Given the description of an element on the screen output the (x, y) to click on. 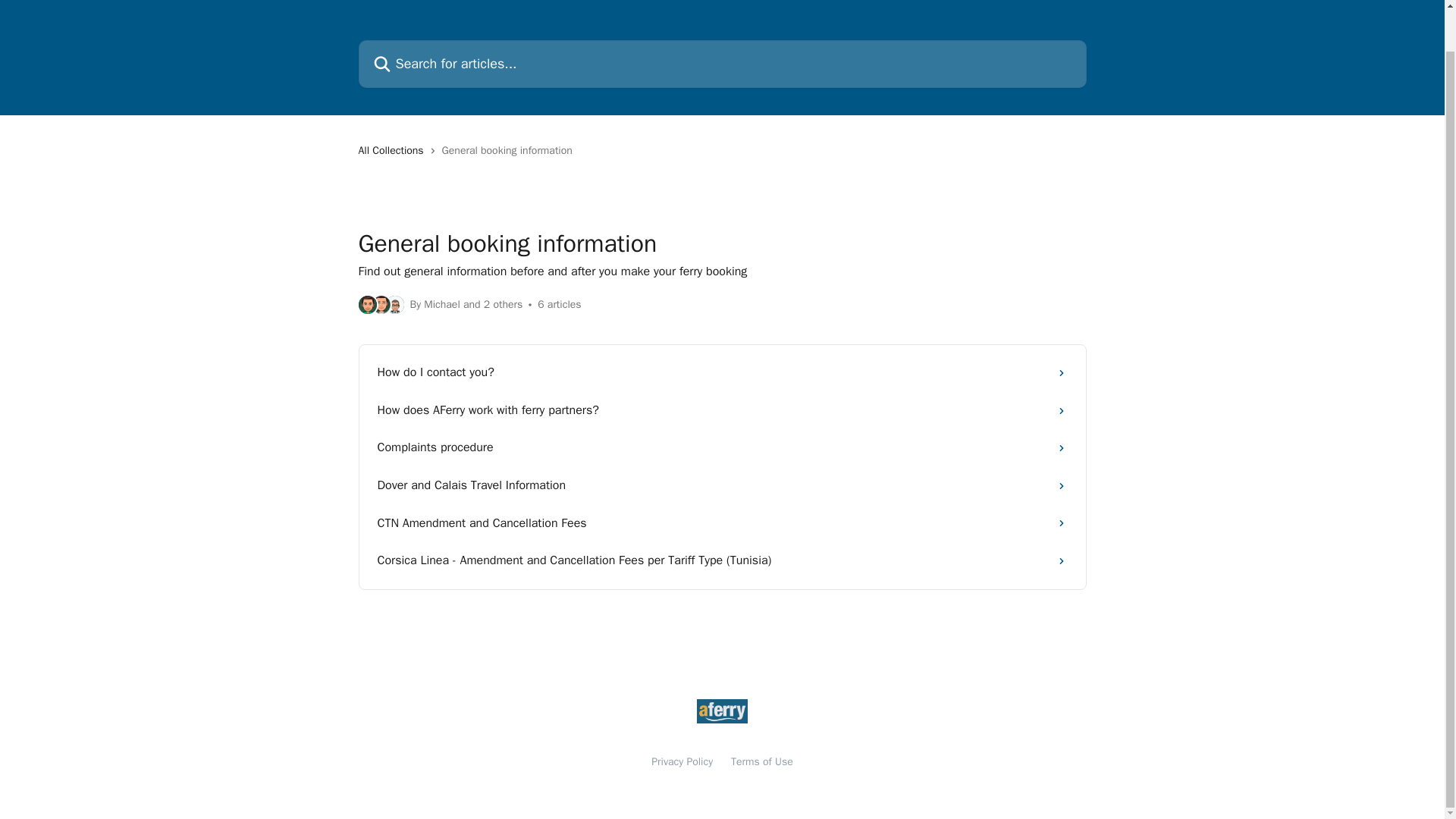
How do I contact you? (722, 372)
Dover and Calais Travel Information (722, 485)
How does AFerry work with ferry partners? (722, 410)
CTN Amendment and Cancellation Fees (722, 523)
All Collections (393, 150)
Complaints procedure (722, 447)
Privacy Policy (681, 761)
Terms of Use (761, 761)
